Given the description of an element on the screen output the (x, y) to click on. 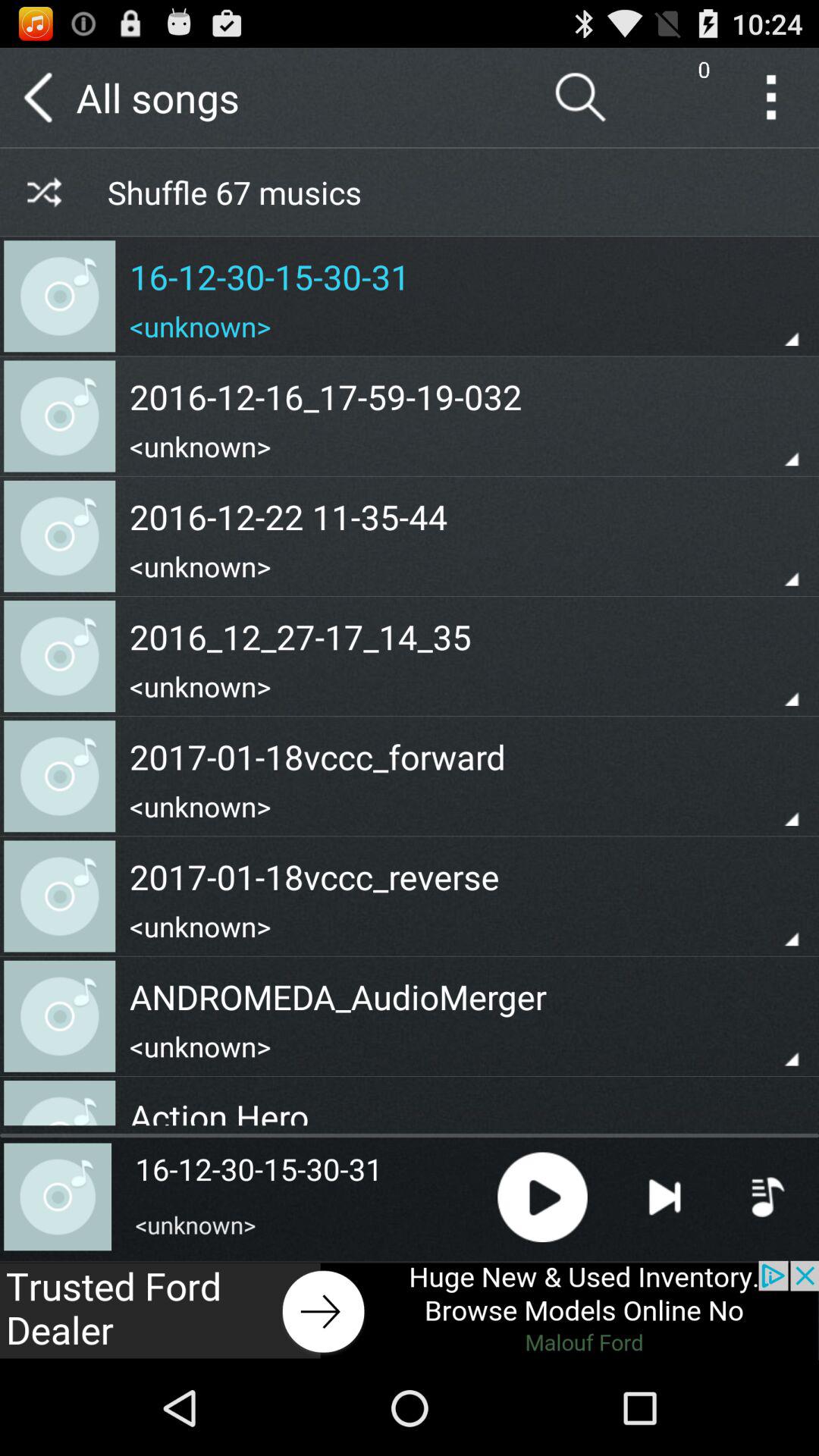
click on first  music track icon from top (59, 296)
